Given the description of an element on the screen output the (x, y) to click on. 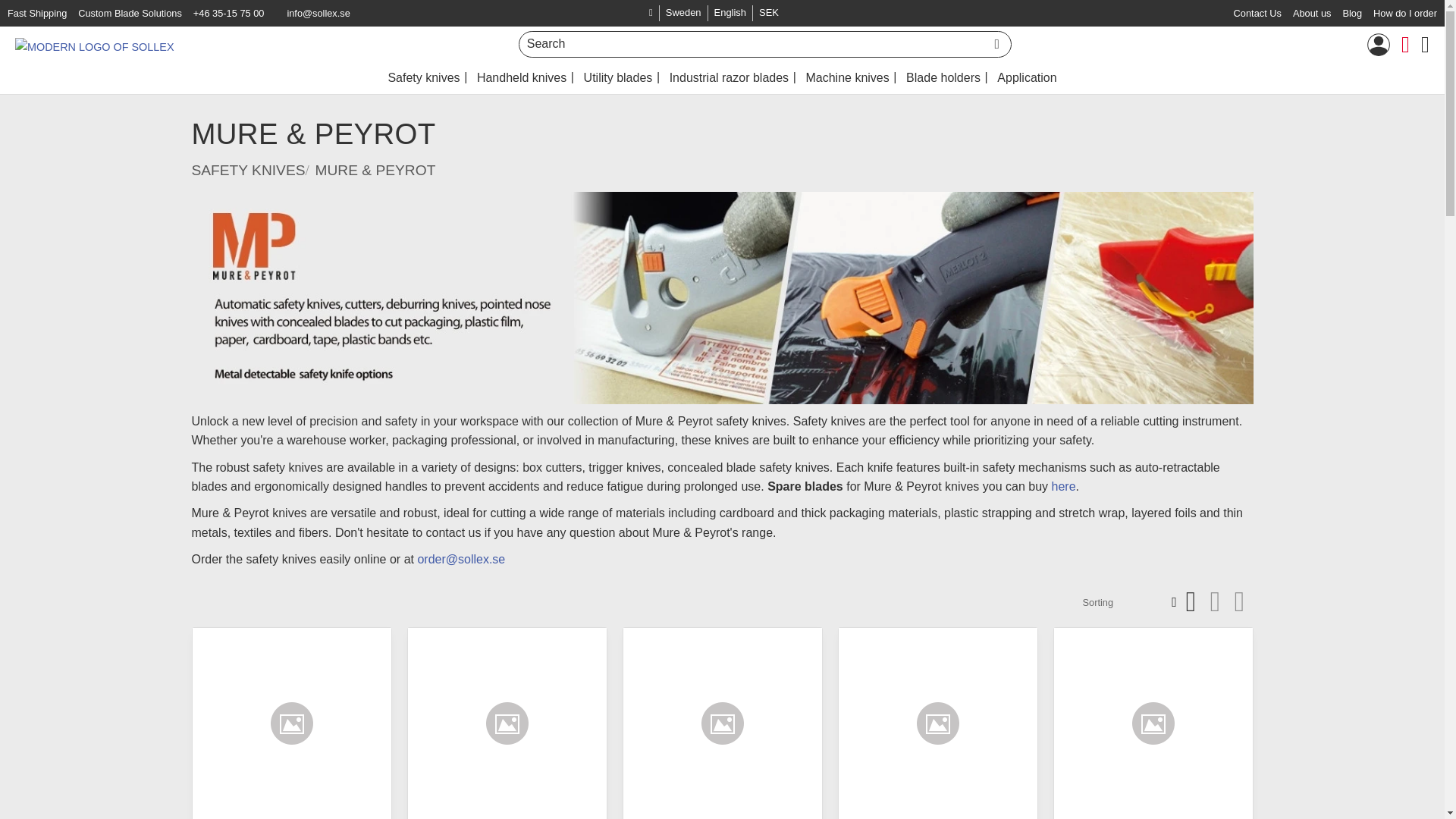
Contact Us (1257, 13)
Handheld knives (521, 78)
How do I order (1405, 13)
Safety knives (423, 78)
Contact Us (1257, 13)
About us (1312, 13)
How do I order (1405, 13)
About us (1312, 13)
Safety knives (423, 78)
Modern Logo of Sollex (713, 12)
